Given the description of an element on the screen output the (x, y) to click on. 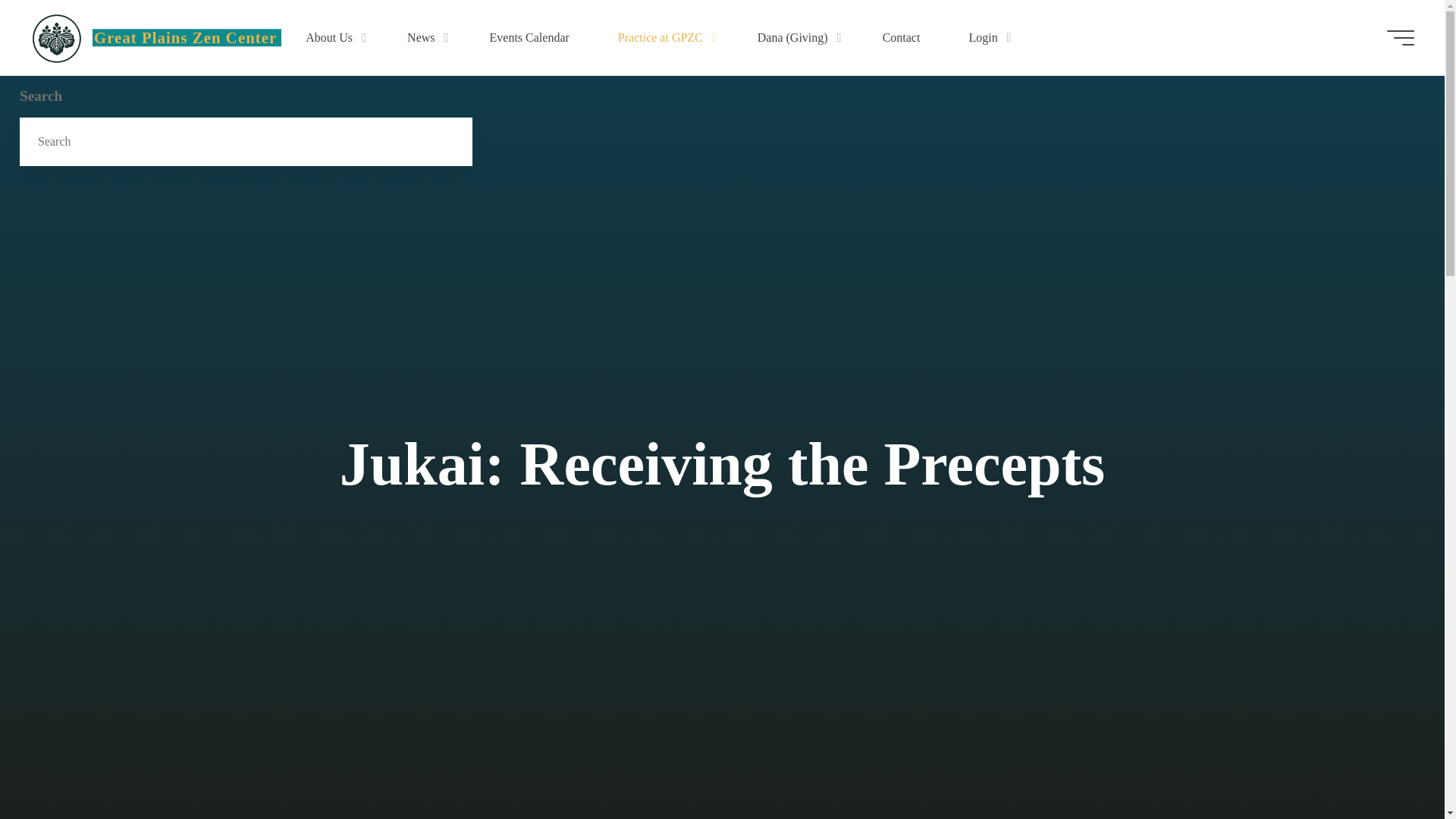
Great Plains Zen Center (56, 37)
Read more (721, 800)
